Given the description of an element on the screen output the (x, y) to click on. 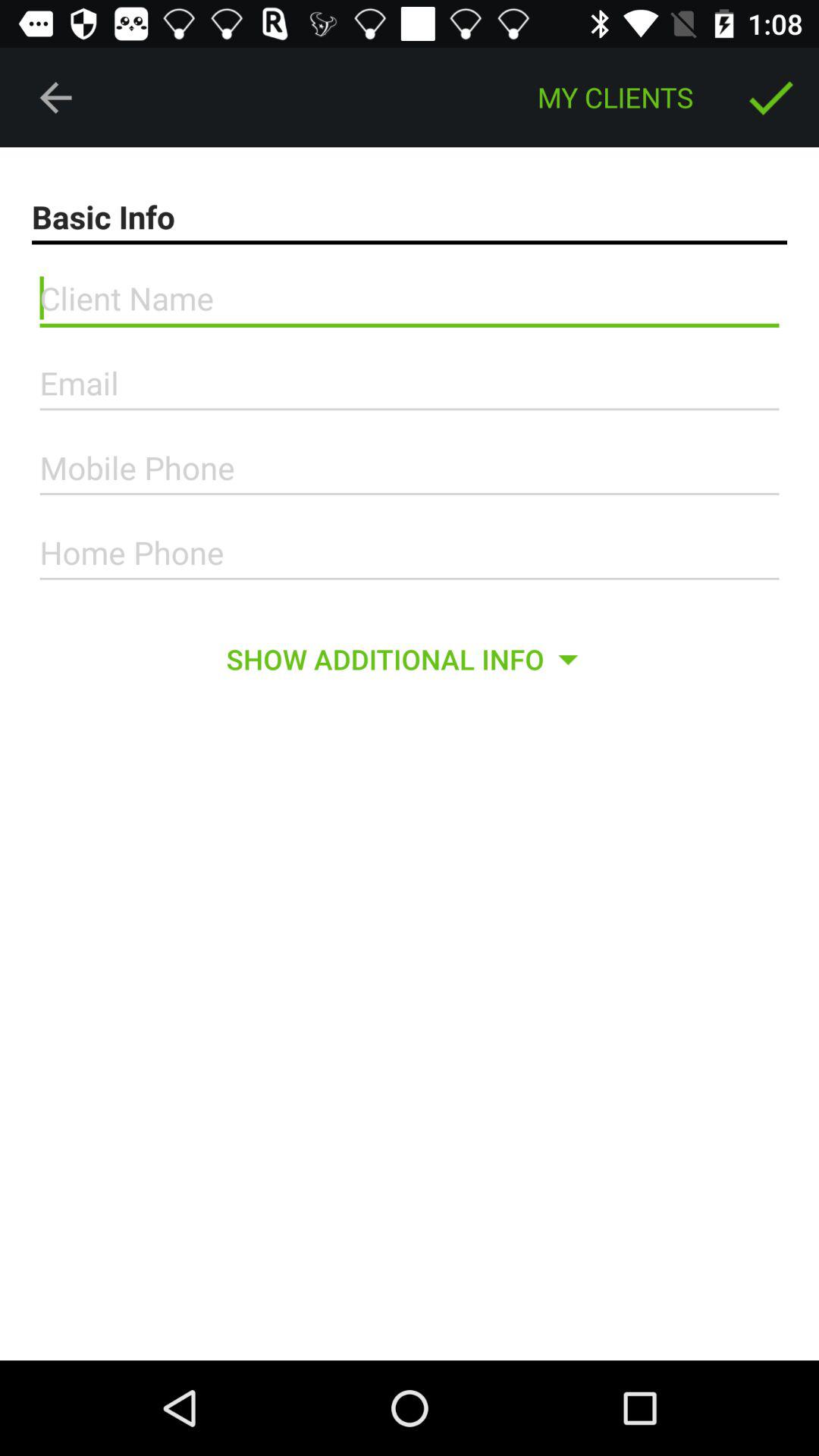
fill client name (409, 298)
